Given the description of an element on the screen output the (x, y) to click on. 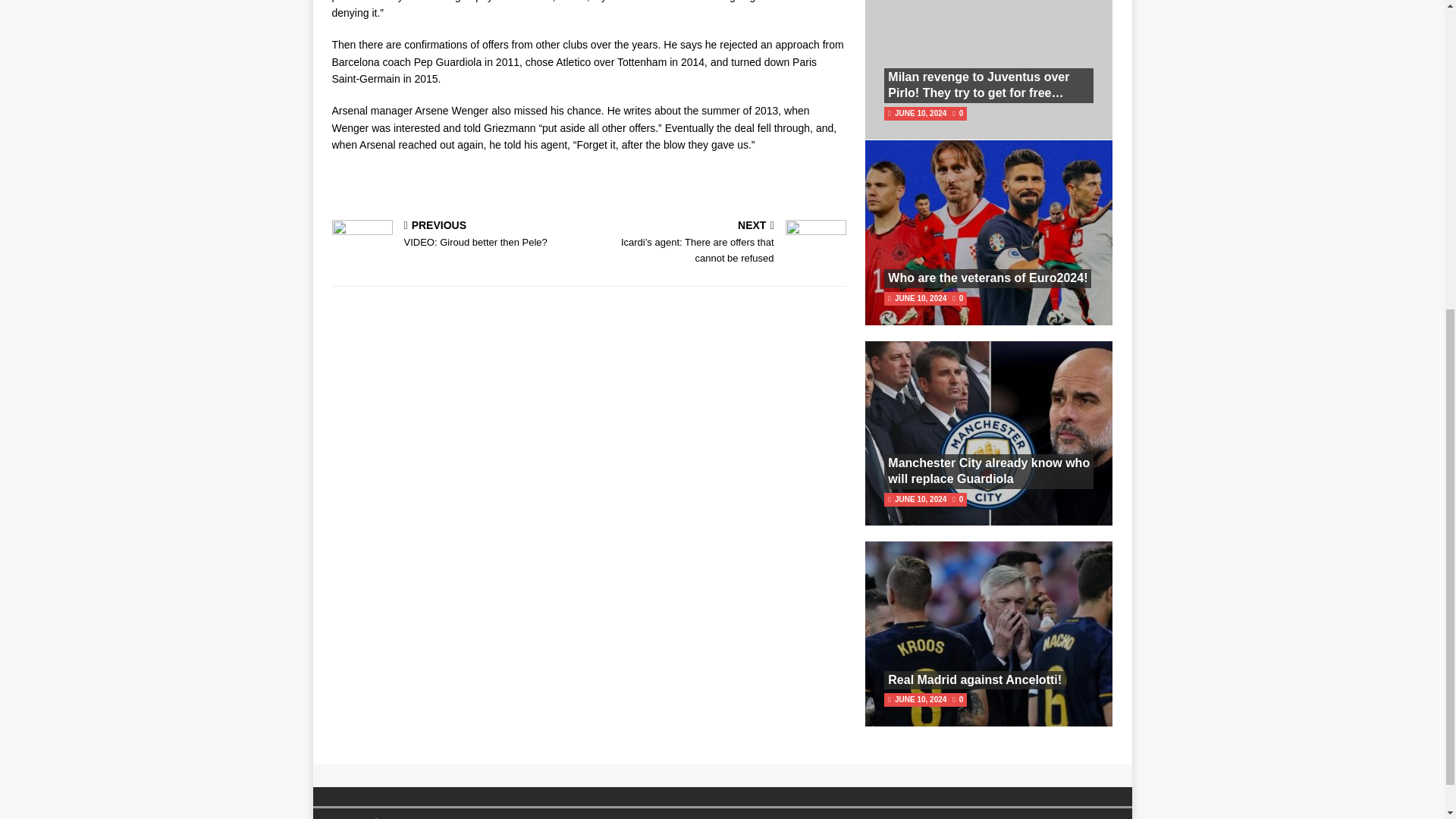
Who are the veterans of Euro2024! (987, 277)
Manchester City already know who will replace Guardiola (988, 470)
Manchester City already know who will replace Guardiola (988, 470)
Who are the veterans of Euro2024! (987, 277)
Real Madrid against Ancelotti! (974, 679)
Real Madrid against Ancelotti! (457, 235)
